Given the description of an element on the screen output the (x, y) to click on. 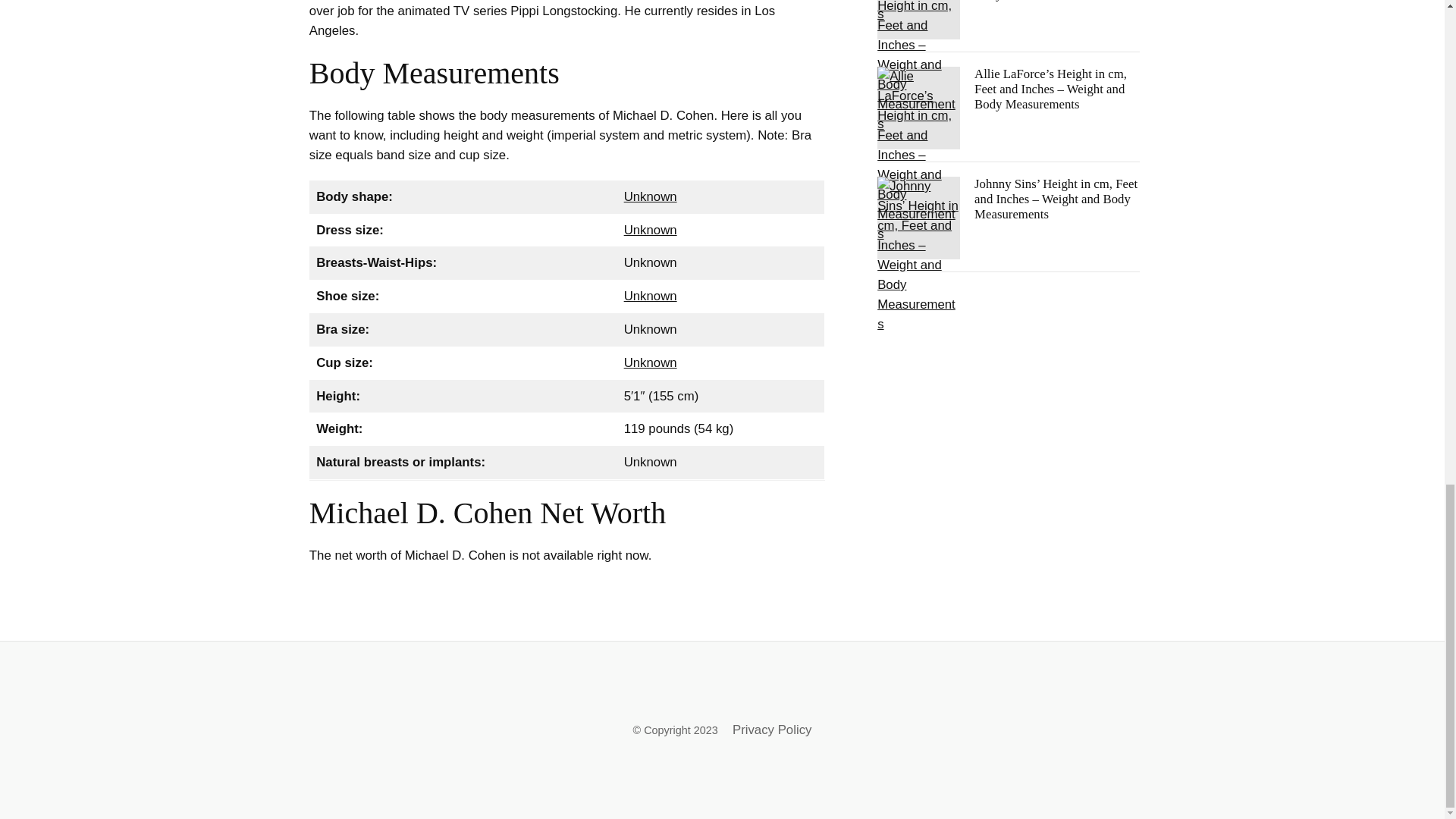
Unknown (650, 229)
Unknown (650, 296)
Unknown (650, 296)
Unknown (650, 196)
Privacy Policy (771, 730)
Unknown (650, 196)
Unknown (650, 362)
Dress Size Unknown (650, 229)
